Given the description of an element on the screen output the (x, y) to click on. 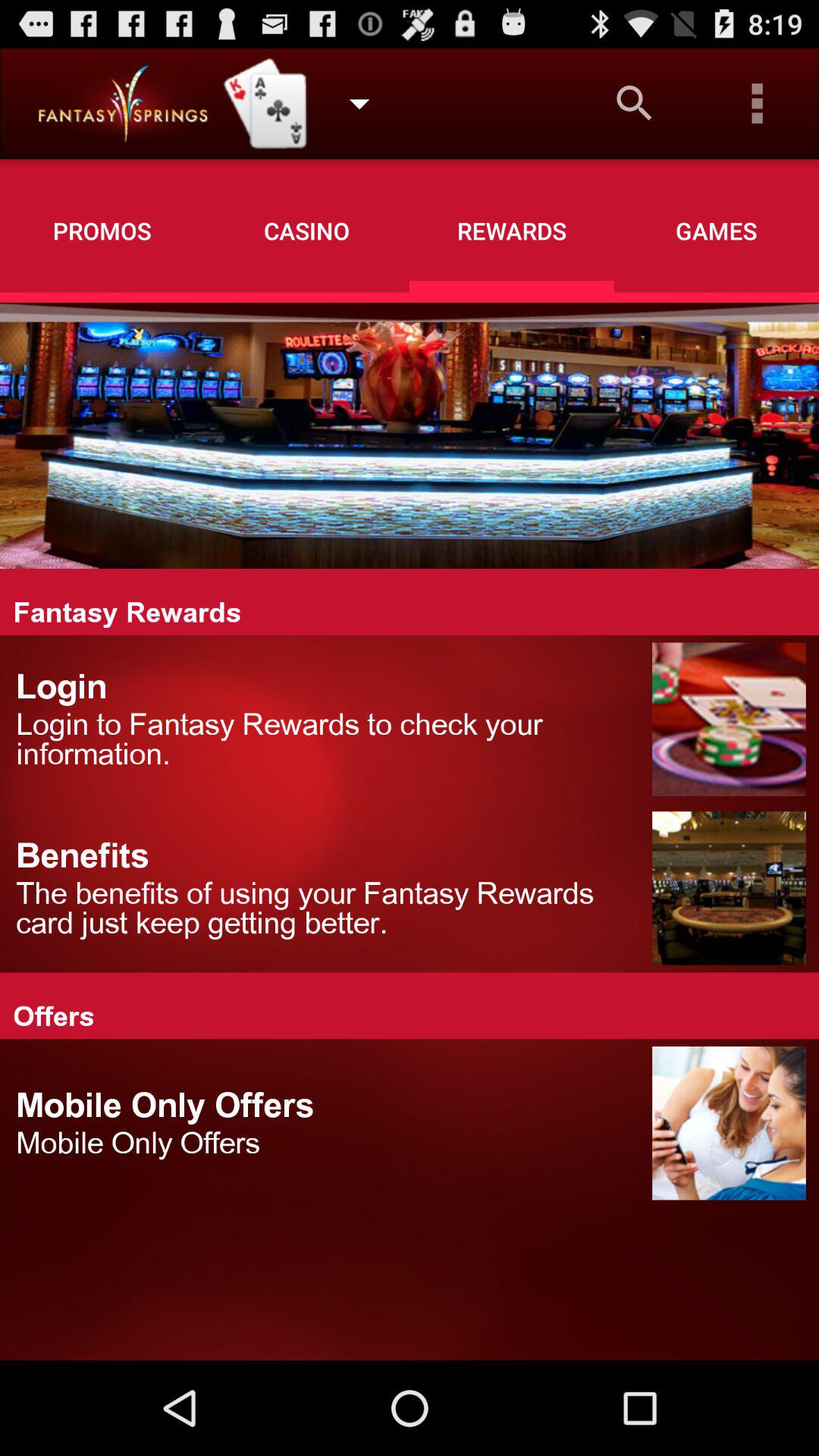
options (757, 103)
